Given the description of an element on the screen output the (x, y) to click on. 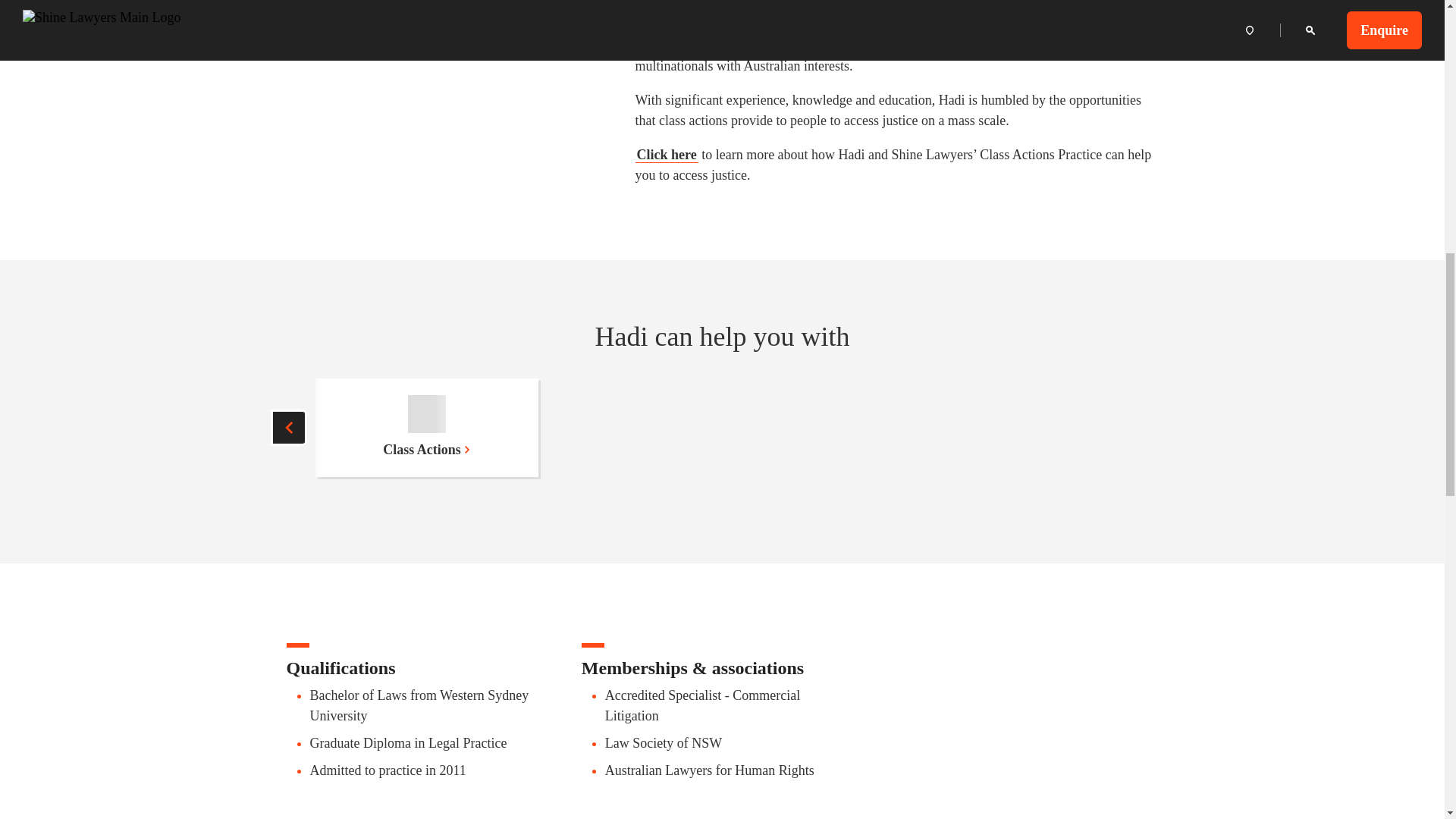
Click here (666, 154)
Class Actions (426, 427)
